Given the description of an element on the screen output the (x, y) to click on. 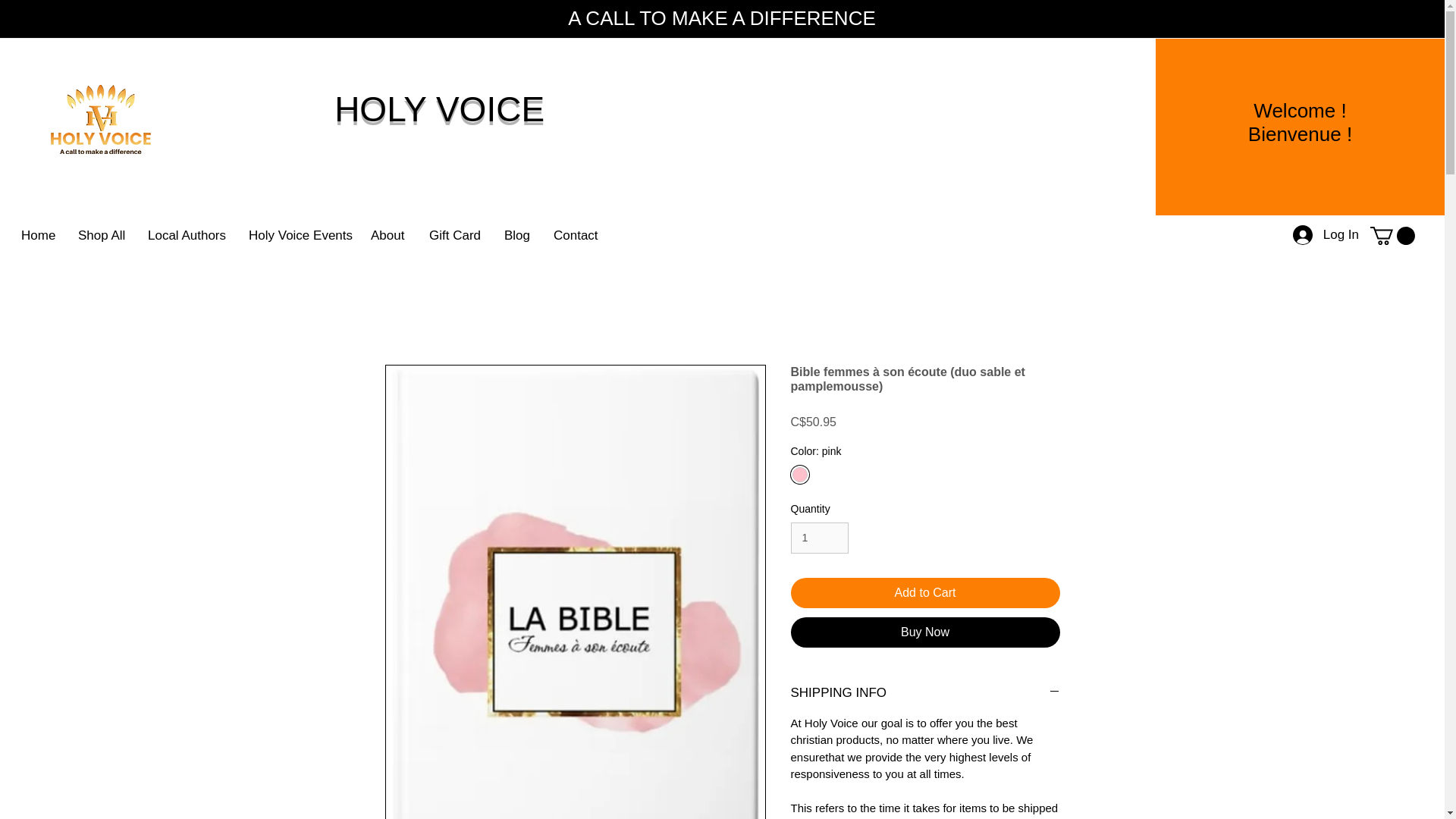
Add to Cart (924, 593)
1 (818, 537)
HOLY VOICE  (444, 108)
Gift Card (455, 235)
Blog (517, 235)
Home (38, 235)
Holy Voice Events (298, 235)
Shop All (101, 235)
About (388, 235)
Contact (575, 235)
